Given the description of an element on the screen output the (x, y) to click on. 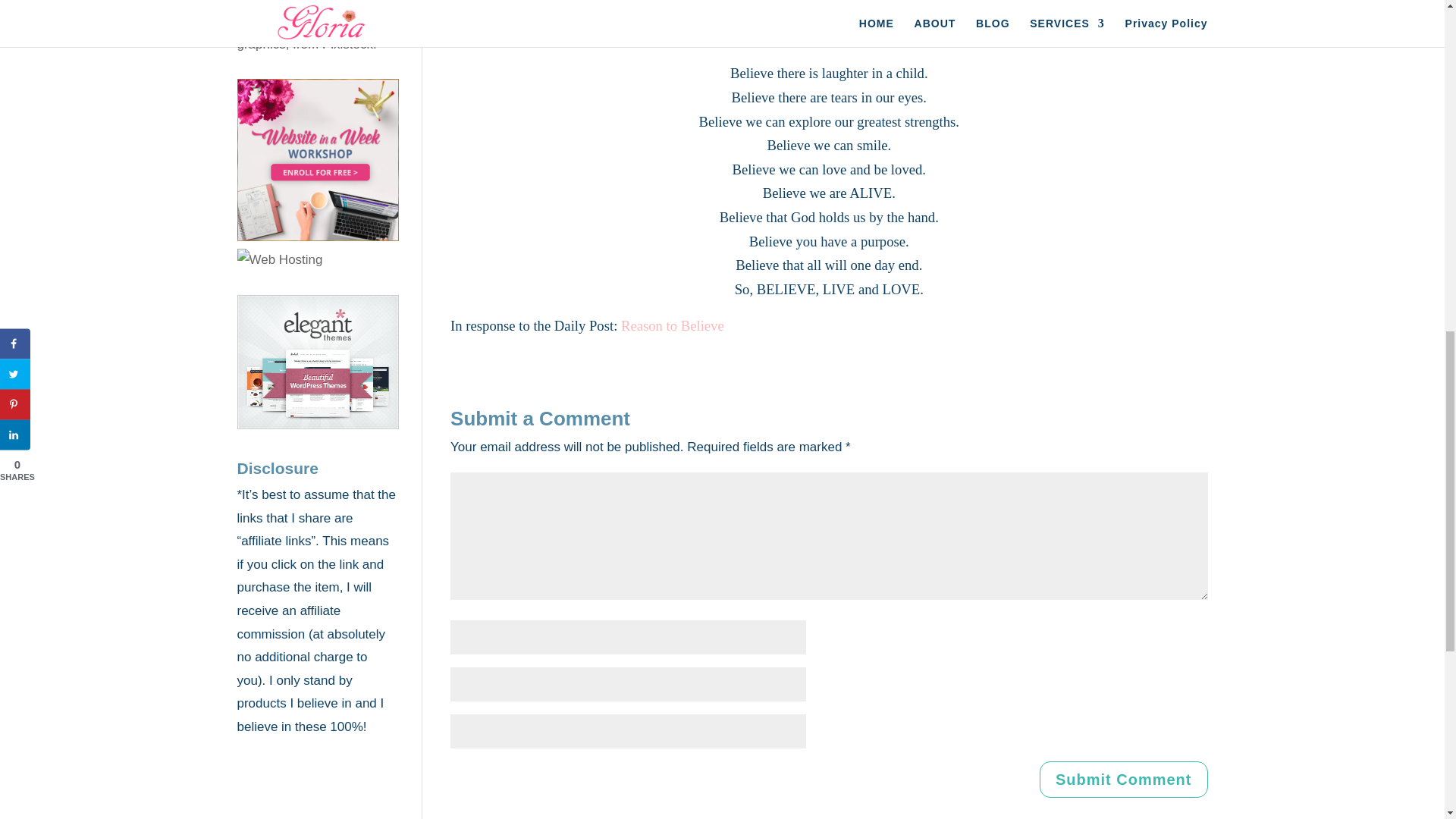
Submit Comment (1123, 779)
Believe (828, 20)
Reason to Believe (672, 325)
Submit Comment (1123, 779)
